Given the description of an element on the screen output the (x, y) to click on. 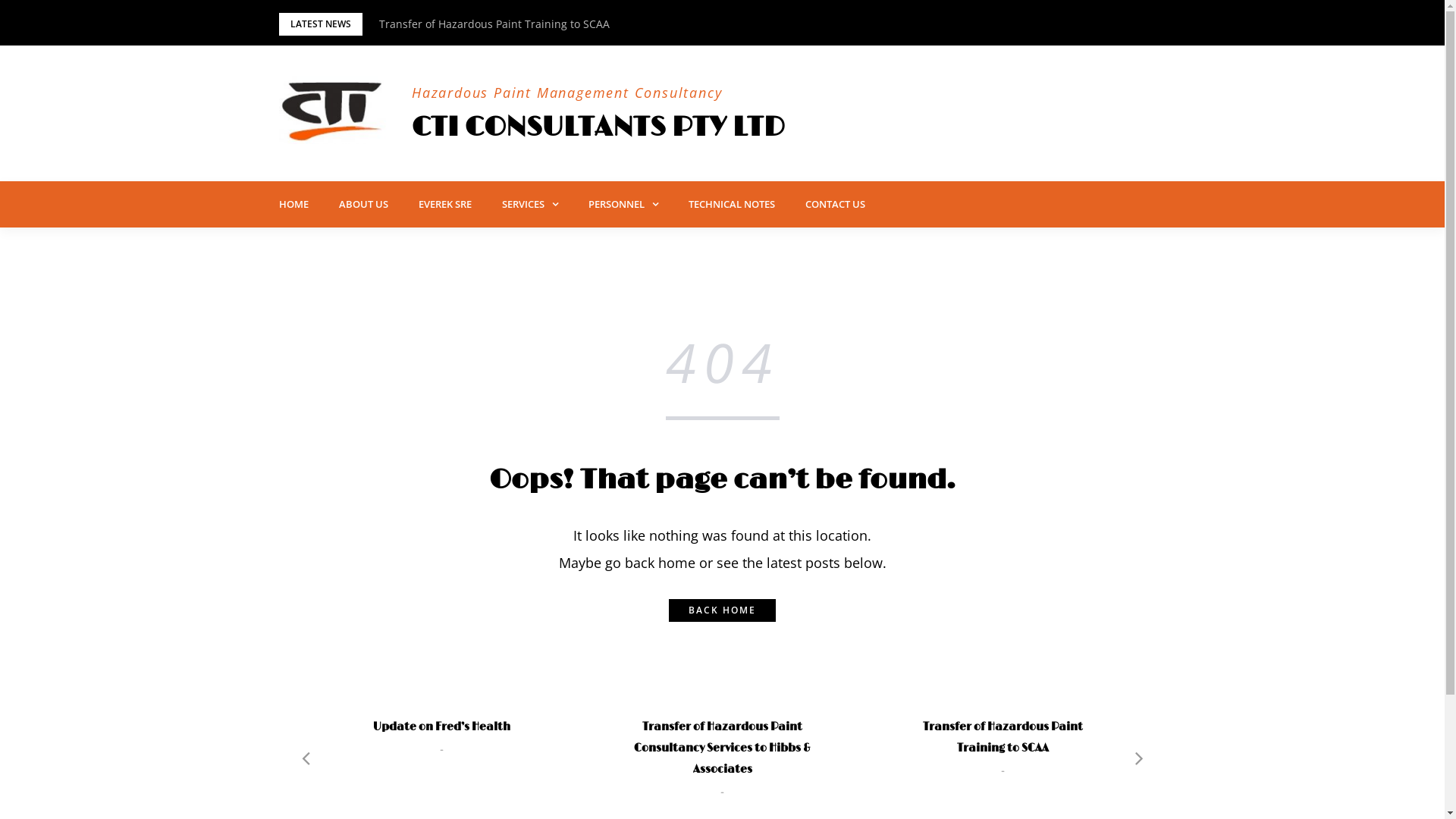
ABOUT US Element type: text (362, 203)
Fred Salome Element type: text (675, 242)
FRED'S HEALTH Element type: text (1002, 703)
FRED'S HEALTH Element type: text (721, 703)
FRED'S HEALTH Element type: text (441, 703)
CTI CONSULTANTS PTY LTD Element type: text (597, 127)
Transfer of Hazardous Paint Training to SCAA Element type: text (1002, 737)
Hazardous Paint Consultancy Element type: text (588, 242)
Transfer of Hazardous Paint Training to SCAA Element type: text (494, 23)
EVEREK SRE Element type: text (444, 203)
BACK HOME Element type: text (721, 610)
TECHNICAL NOTES Element type: text (731, 203)
HOME Element type: text (293, 203)
CONTACT US Element type: text (835, 203)
SERVICES Element type: text (529, 204)
PERSONNEL Element type: text (623, 204)
